Given the description of an element on the screen output the (x, y) to click on. 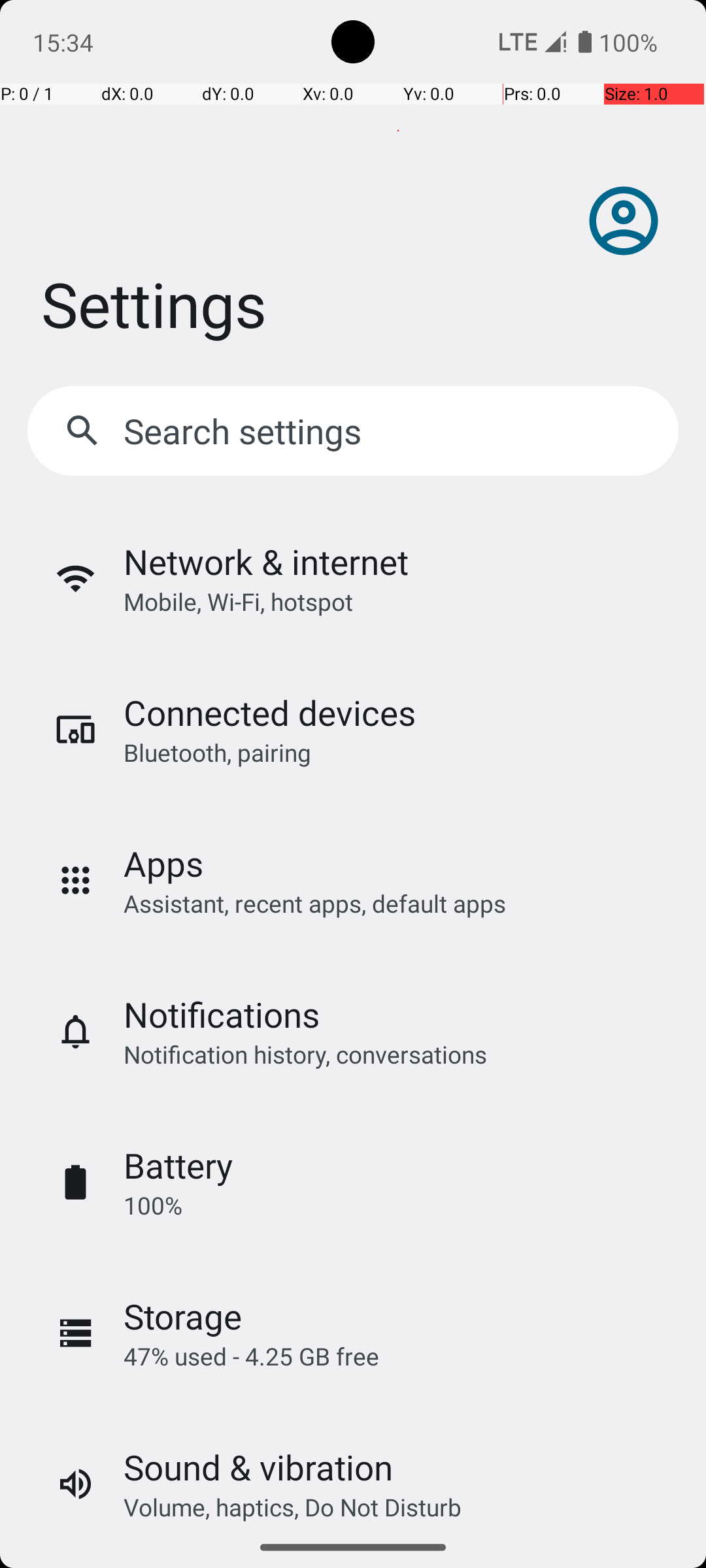
47% used - 4.25 GB free Element type: android.widget.TextView (251, 1355)
